Given the description of an element on the screen output the (x, y) to click on. 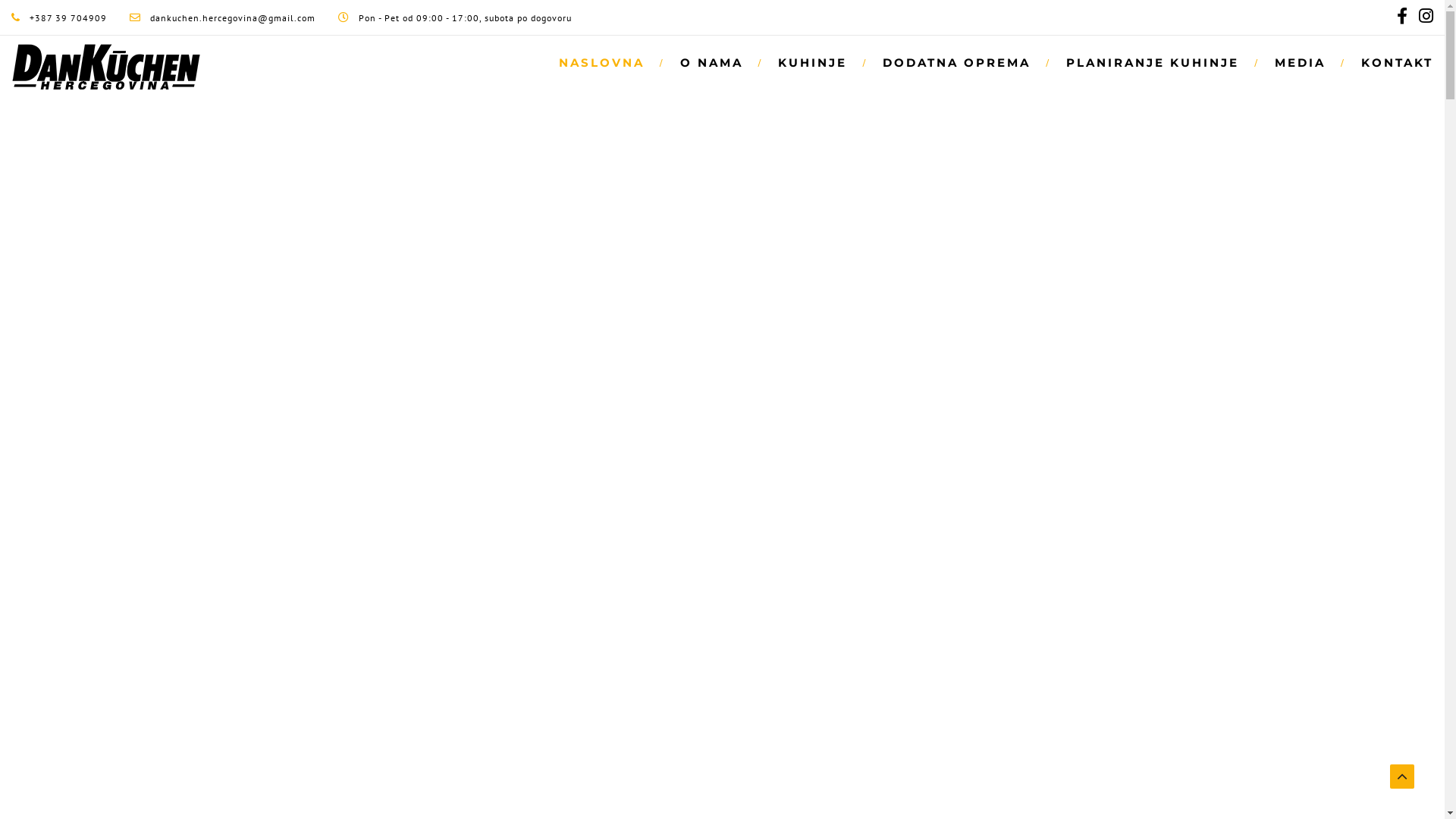
MEDIA Element type: text (1302, 61)
KUHINJE Element type: text (814, 61)
NASLOVNA Element type: text (604, 61)
KONTAKT Element type: text (1389, 61)
PLANIRANJE KUHINJE Element type: text (1155, 61)
DODATNA OPREMA Element type: text (959, 61)
O NAMA Element type: text (714, 61)
